Given the description of an element on the screen output the (x, y) to click on. 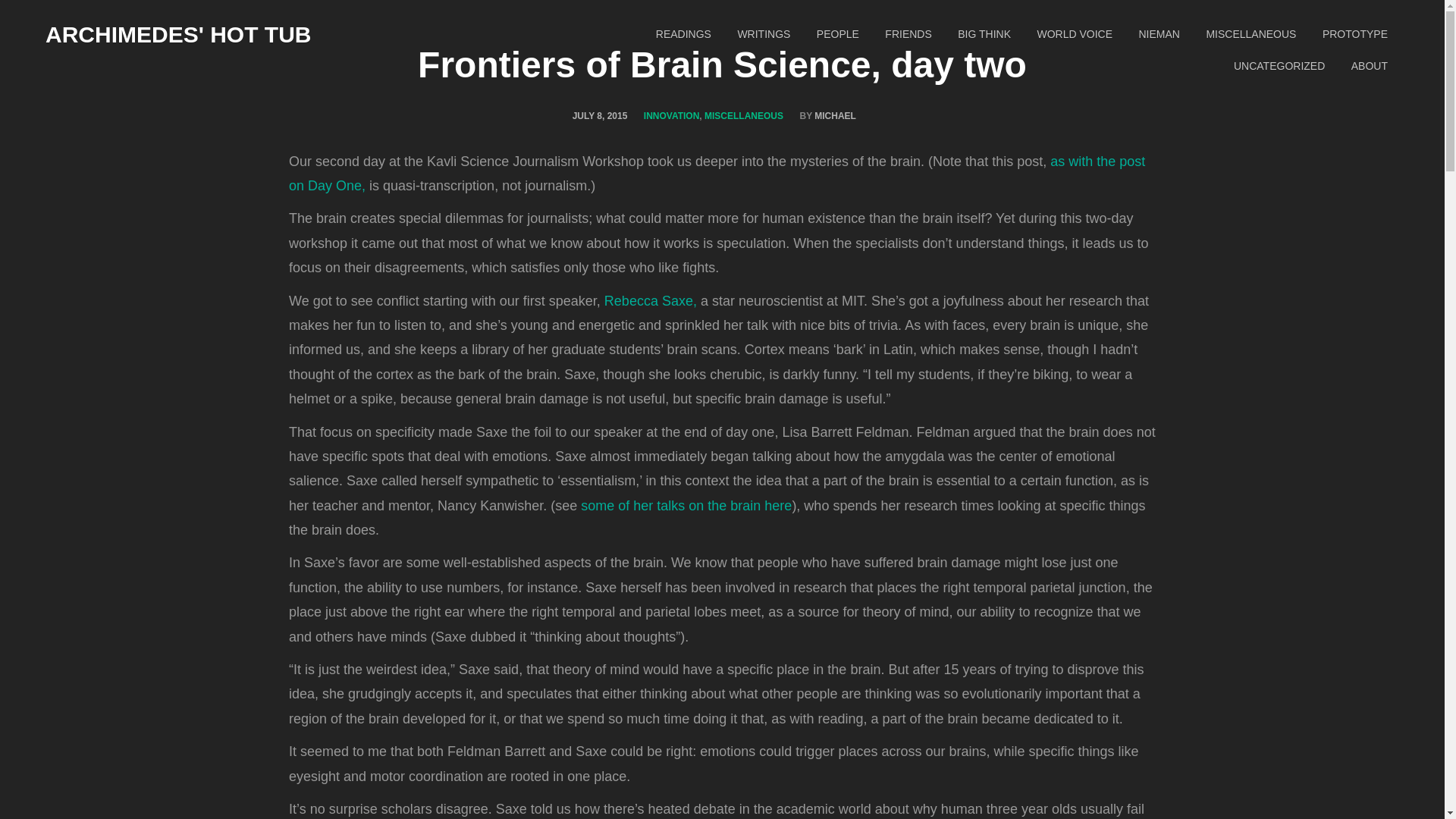
BIG THINK (984, 34)
PEOPLE (837, 34)
ABOUT (1369, 66)
UNCATEGORIZED (1279, 66)
FRIENDS (907, 34)
Rebecca Saxe, (650, 300)
WORLD VOICE (1074, 34)
Writings (763, 34)
some of her talks on the brain here (686, 505)
MISCELLANEOUS (1250, 34)
MISCELLANEOUS (743, 115)
NIEMAN (1158, 34)
World Voice (1074, 34)
Friends (907, 34)
Big Think (984, 34)
